Given the description of an element on the screen output the (x, y) to click on. 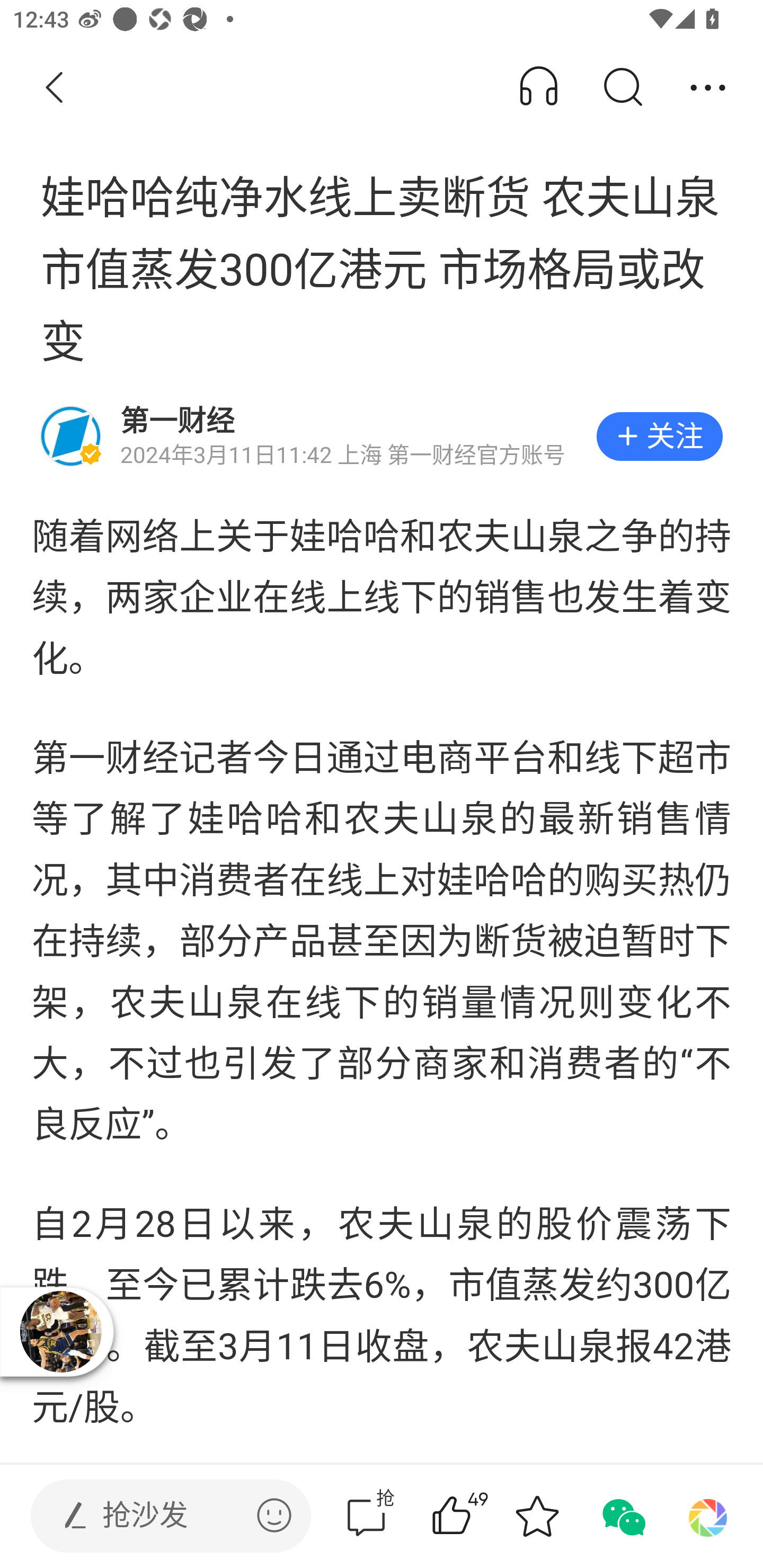
搜索  (622, 87)
分享  (707, 87)
 返回 (54, 87)
第一财经 2024年3月11日11:42 上海 第一财经官方账号  关注 (381, 436)
 关注 (659, 436)
播放器 (60, 1330)
发表评论  抢沙发 发表评论  (155, 1516)
抢评论  抢 评论 (365, 1516)
49赞 (476, 1516)
收藏  (536, 1516)
分享到微信  (622, 1516)
分享到朋友圈 (707, 1516)
 (274, 1515)
